Given the description of an element on the screen output the (x, y) to click on. 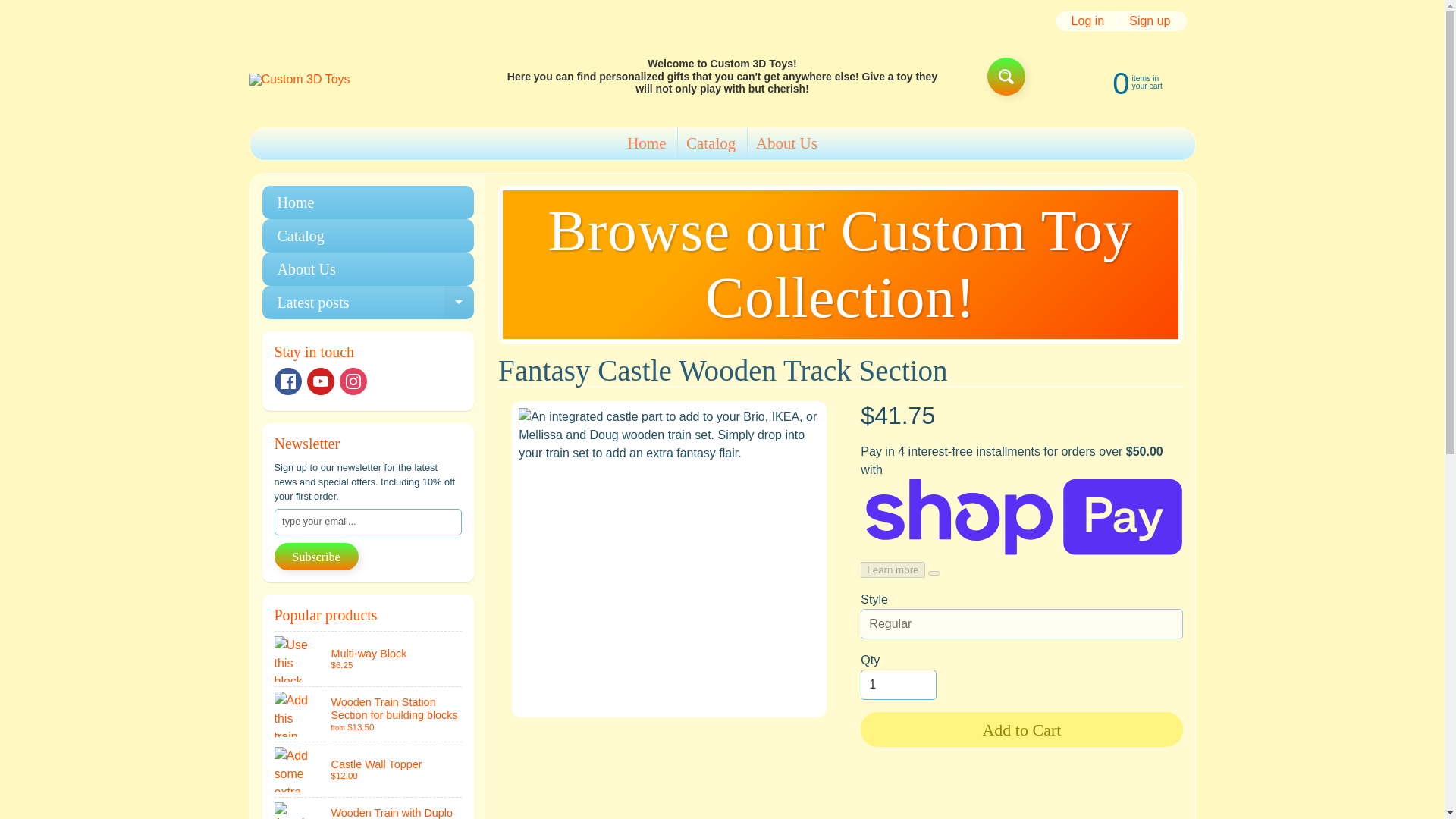
About Us (786, 143)
Instagram (352, 380)
Sign up (1149, 21)
Browse our Custom Toy Collection! (839, 264)
Castle Wall Topper (1122, 81)
Home (369, 769)
Catalog (368, 202)
Facebook (368, 235)
About Us (288, 380)
